Given the description of an element on the screen output the (x, y) to click on. 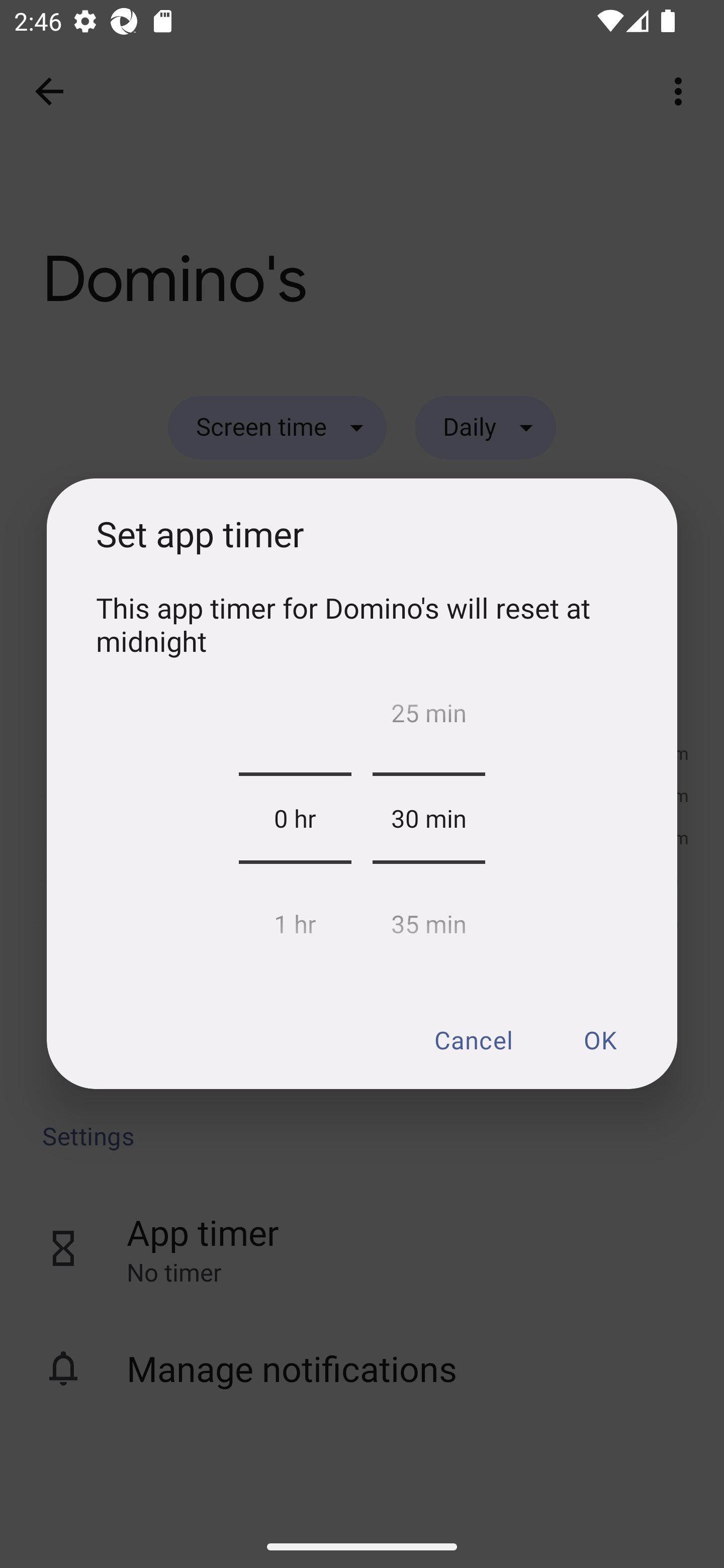
25 min (428, 718)
0 hr (294, 818)
30 min (428, 818)
1 hr (294, 918)
35 min (428, 918)
Cancel (473, 1039)
OK (599, 1039)
